Given the description of an element on the screen output the (x, y) to click on. 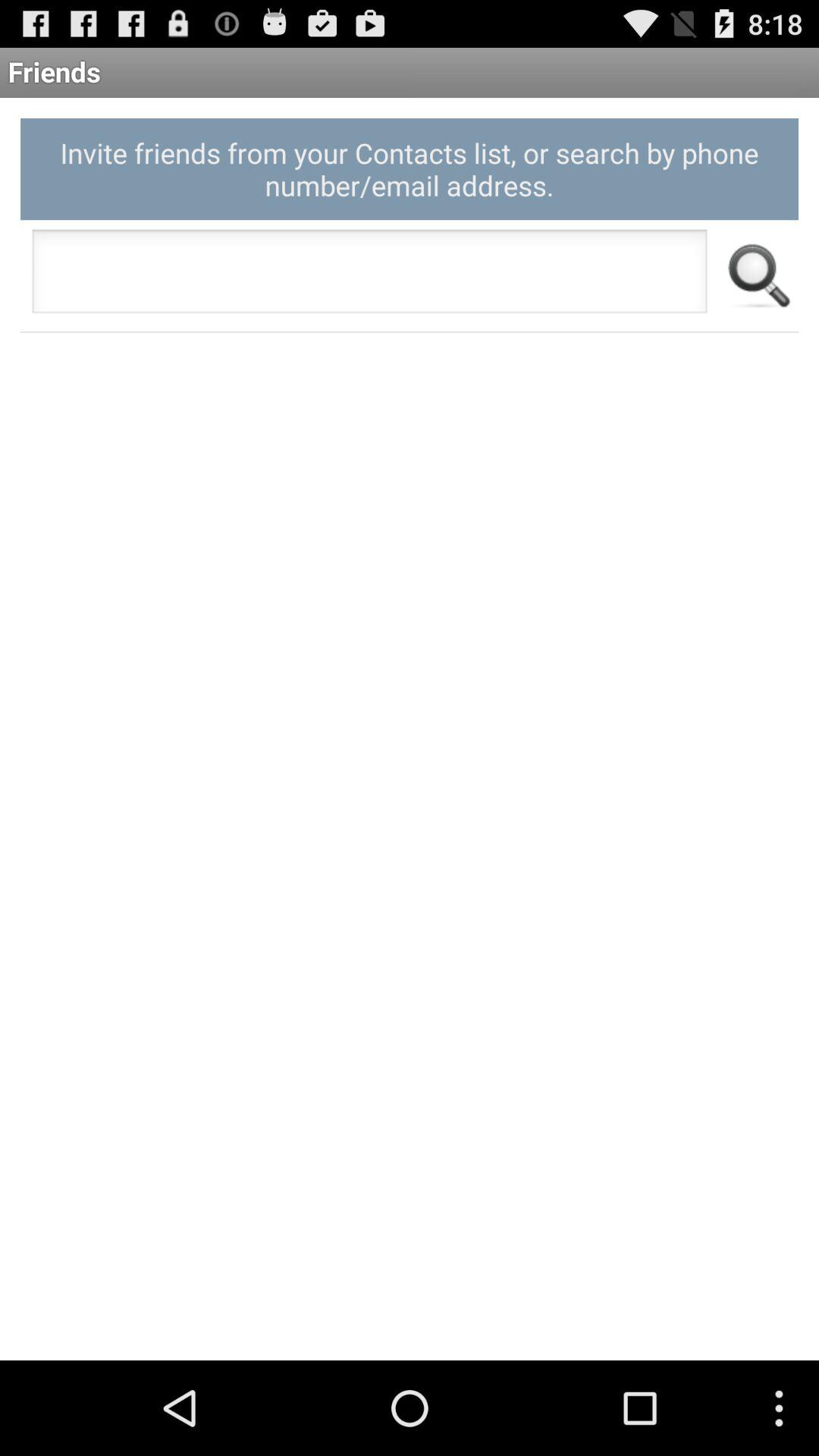
tap invite friends from app (409, 169)
